Given the description of an element on the screen output the (x, y) to click on. 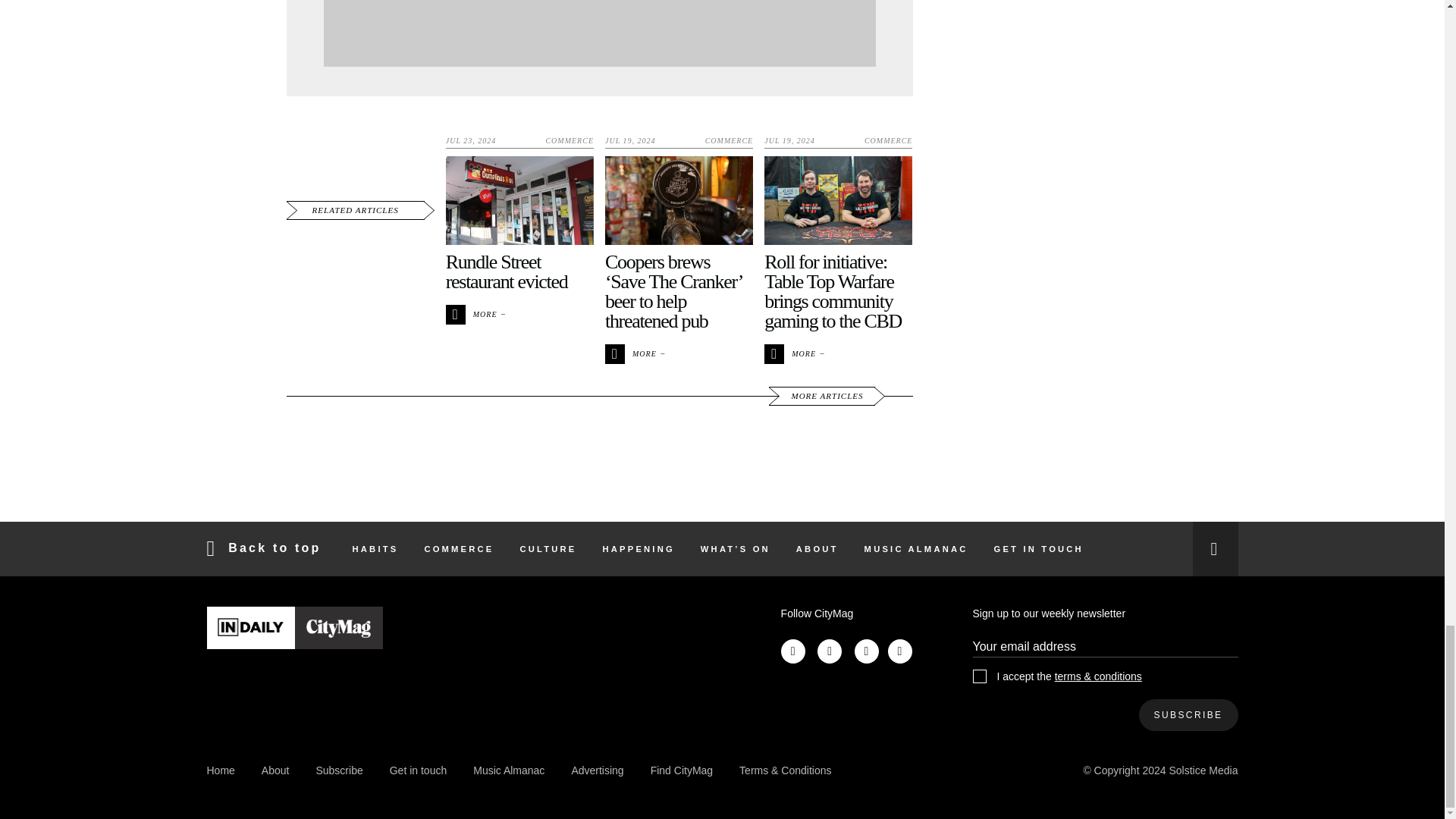
MORE (634, 352)
MORE (793, 352)
MORE (474, 313)
3rd party ad content (599, 33)
MORE ARTICLES (821, 395)
Rundle Street restaurant evicted (506, 271)
